Given the description of an element on the screen output the (x, y) to click on. 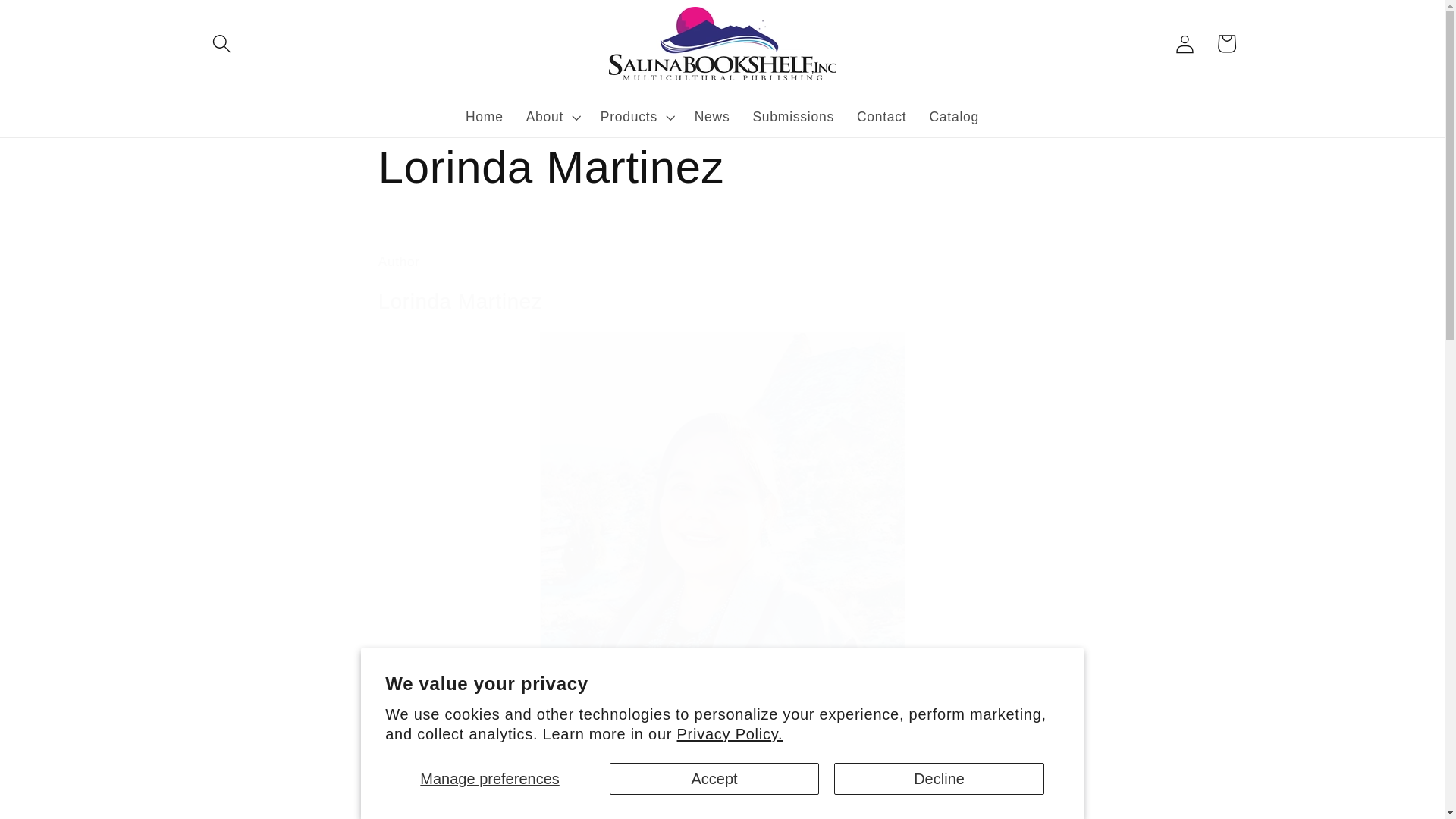
Manage preferences (489, 778)
Lorinda Martinez (722, 167)
Privacy Policy. (730, 733)
Decline (938, 778)
Accept (714, 778)
Skip to content (57, 21)
Home (484, 117)
